Given the description of an element on the screen output the (x, y) to click on. 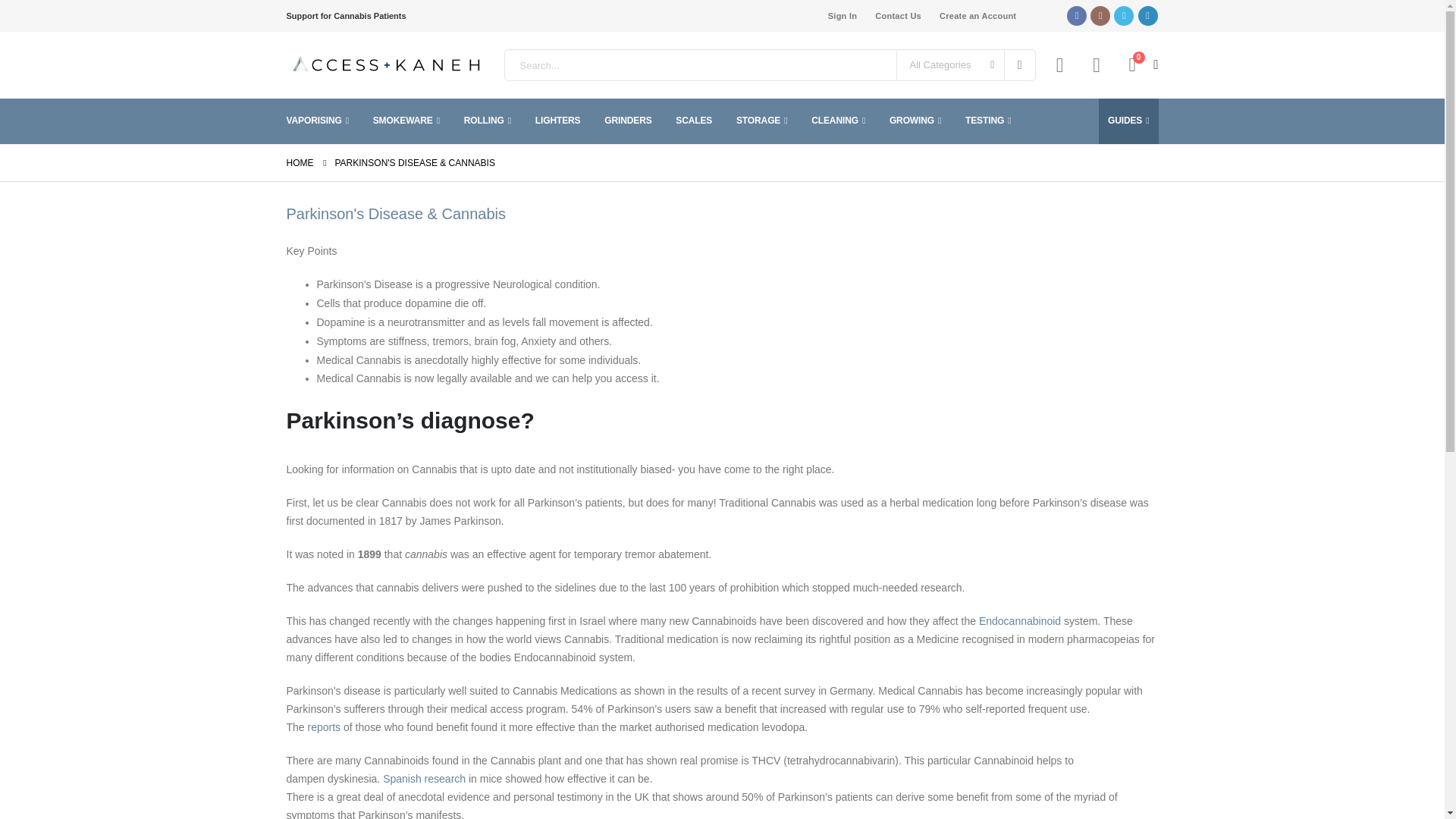
Create an Account (974, 15)
Contact Us (895, 15)
VAPORISING (317, 120)
My Account (1060, 65)
Instagram (1099, 15)
Sign In (839, 15)
Twitter (1123, 15)
LinkedIn (1147, 15)
Wishlist (1139, 65)
Vaporising (1096, 65)
Search (317, 120)
Facebook (1019, 65)
Access Kaneh Logo (1076, 15)
SMOKEWARE (389, 64)
